Given the description of an element on the screen output the (x, y) to click on. 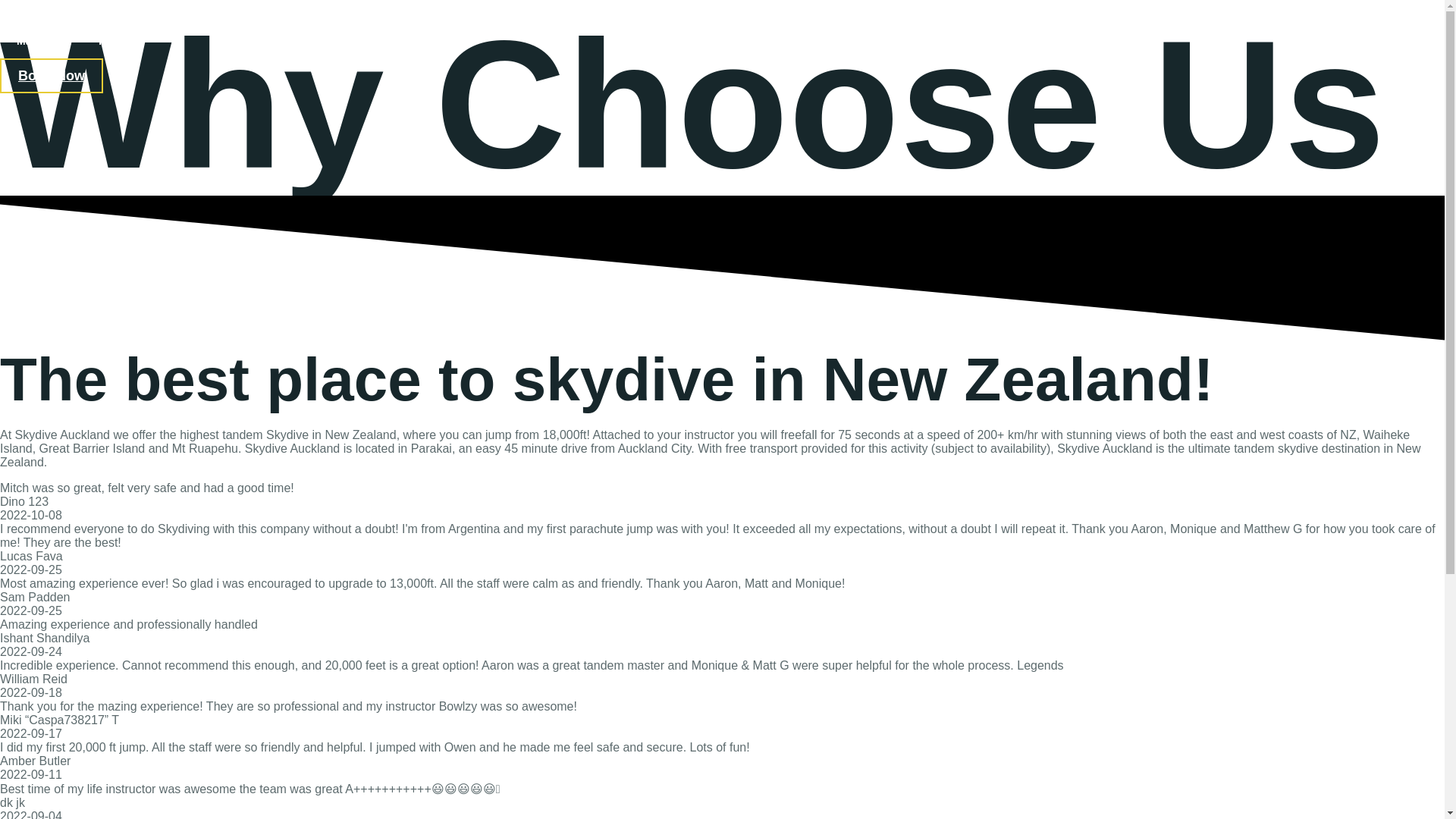
Skip to content (40, 6)
Main Menu Menu (79, 35)
Book Now (51, 75)
Skip to content (40, 6)
